Given the description of an element on the screen output the (x, y) to click on. 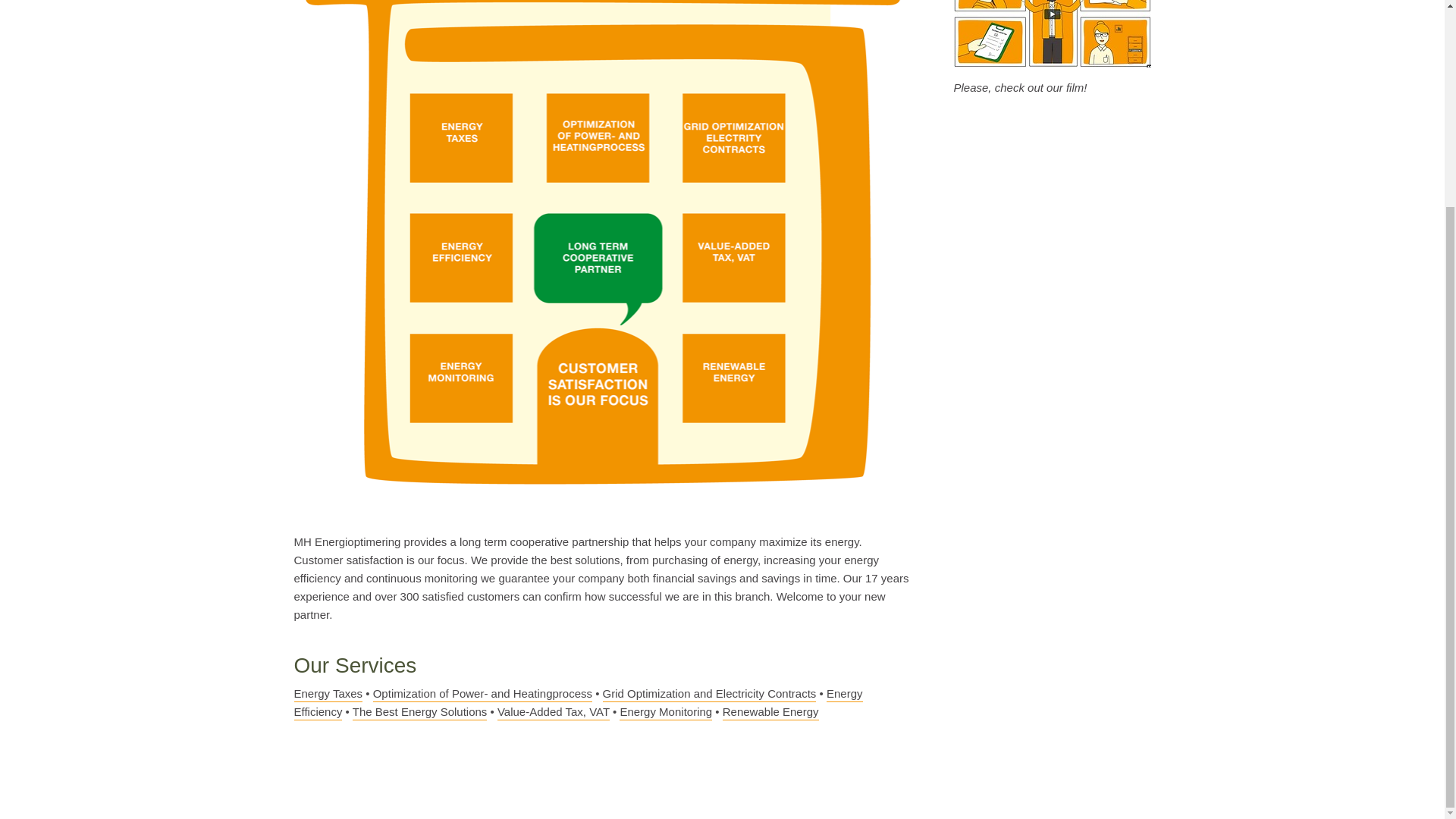
The Best Energy Solutions (419, 712)
Optimization of Power- and Heatingprocess (482, 694)
Renewable Energy (770, 712)
Energy Taxes (328, 694)
Value-Added Tax, VAT (553, 712)
Energy Efficiency (578, 703)
Grid Optimization and Electricity Contracts (709, 694)
Energy Monitoring (665, 712)
